Given the description of an element on the screen output the (x, y) to click on. 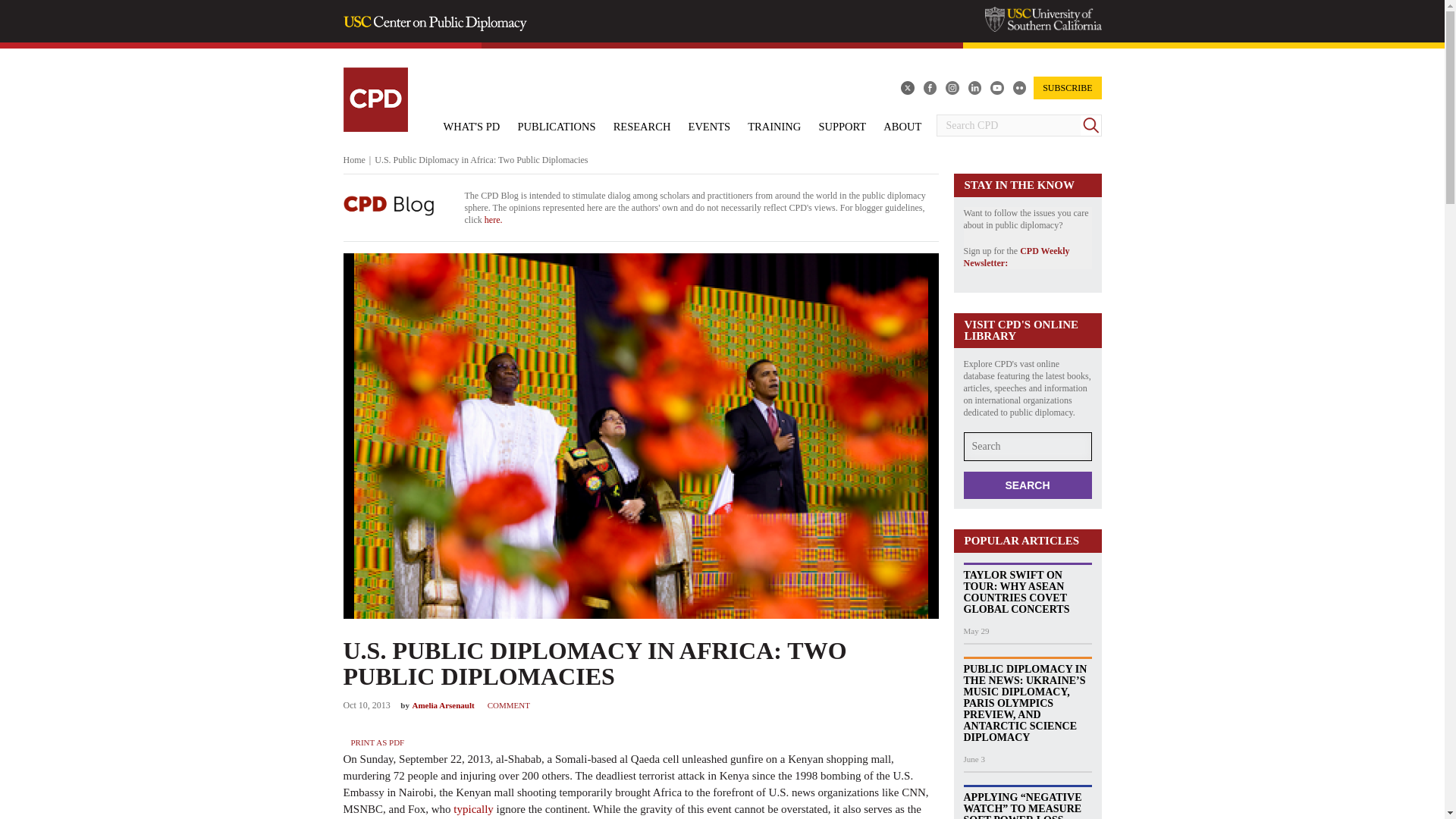
ABOUT (902, 126)
here. (493, 219)
Enter the terms you wish to search for. (1008, 125)
WHAT'S PD (472, 126)
EVENTS (709, 126)
typically (472, 808)
SUBSCRIBE (1063, 87)
SUBSCRIBE (1066, 87)
SUPPORT (842, 126)
RESEARCH (642, 126)
PUBLICATIONS (555, 126)
Amelia Arsenault (443, 705)
Search CPD (1008, 125)
TRAINING (773, 126)
